Given the description of an element on the screen output the (x, y) to click on. 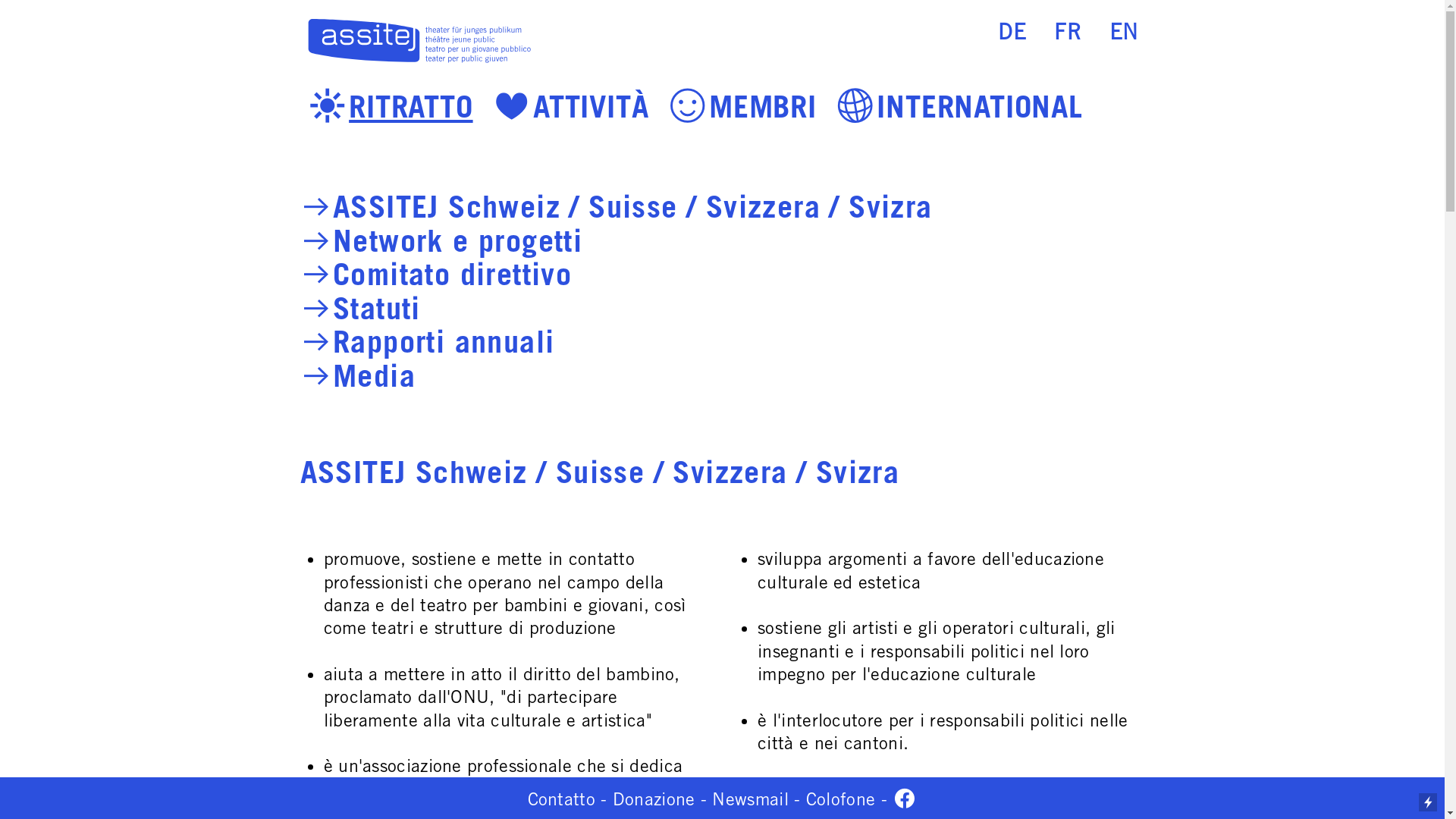
Newsmail Element type: text (749, 799)
RITRATTO Element type: text (410, 107)
DE Element type: text (1011, 32)
FR Element type: text (1067, 32)
MEMBRI Element type: text (762, 107)
Donazione Element type: text (653, 799)
Colofone Element type: text (840, 799)
Contatto Element type: text (561, 799)
EN Element type: text (1123, 32)
ASSITEJ Schweiz / Suisse / Svizzera / Svizra Element type: text (632, 207)
INTERNATIONAL Element type: text (979, 107)
